Given the description of an element on the screen output the (x, y) to click on. 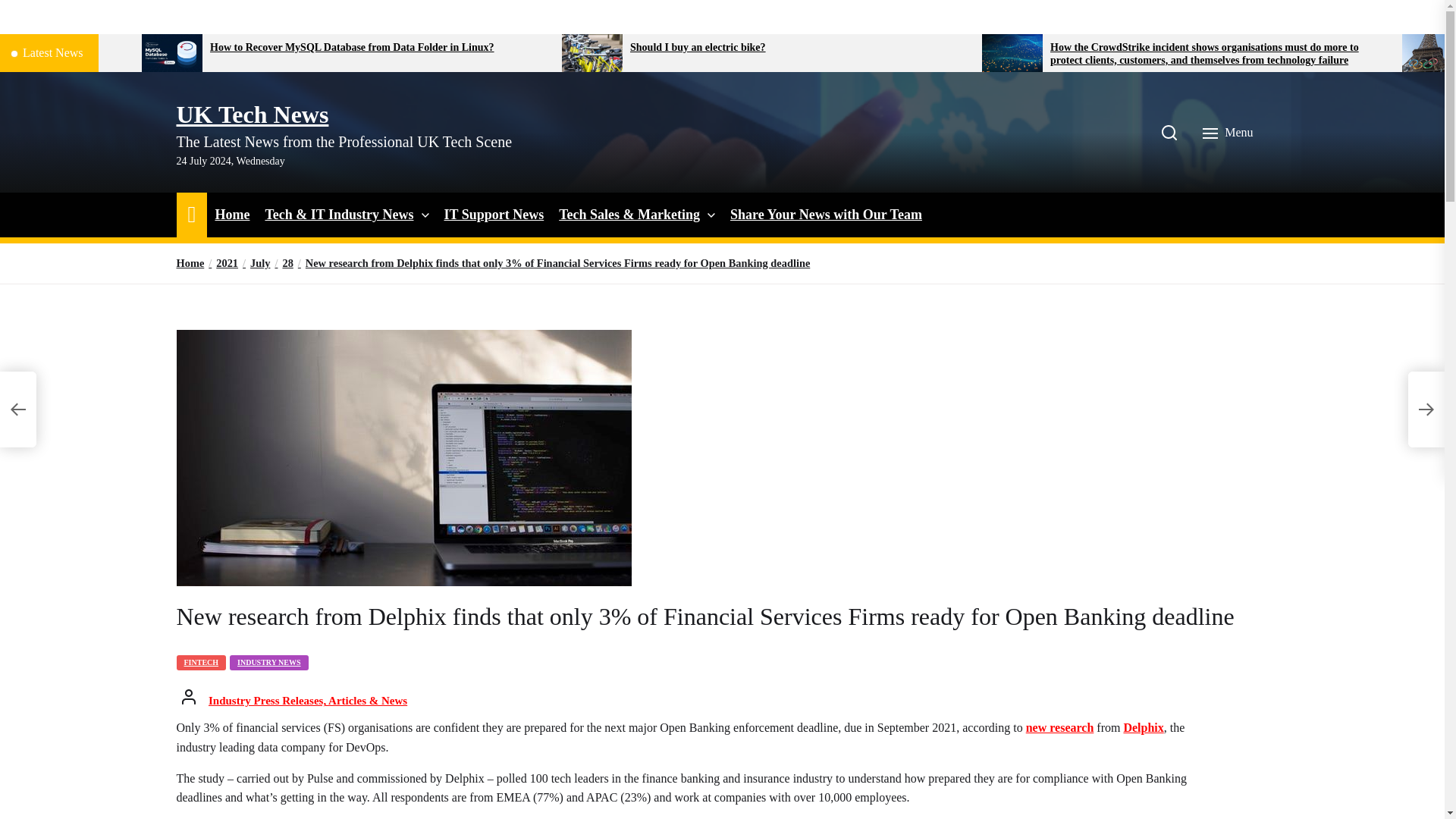
How to Recover MySQL Database from Data Folder in Linux? (379, 47)
Should I buy an electric bike? (800, 47)
